Given the description of an element on the screen output the (x, y) to click on. 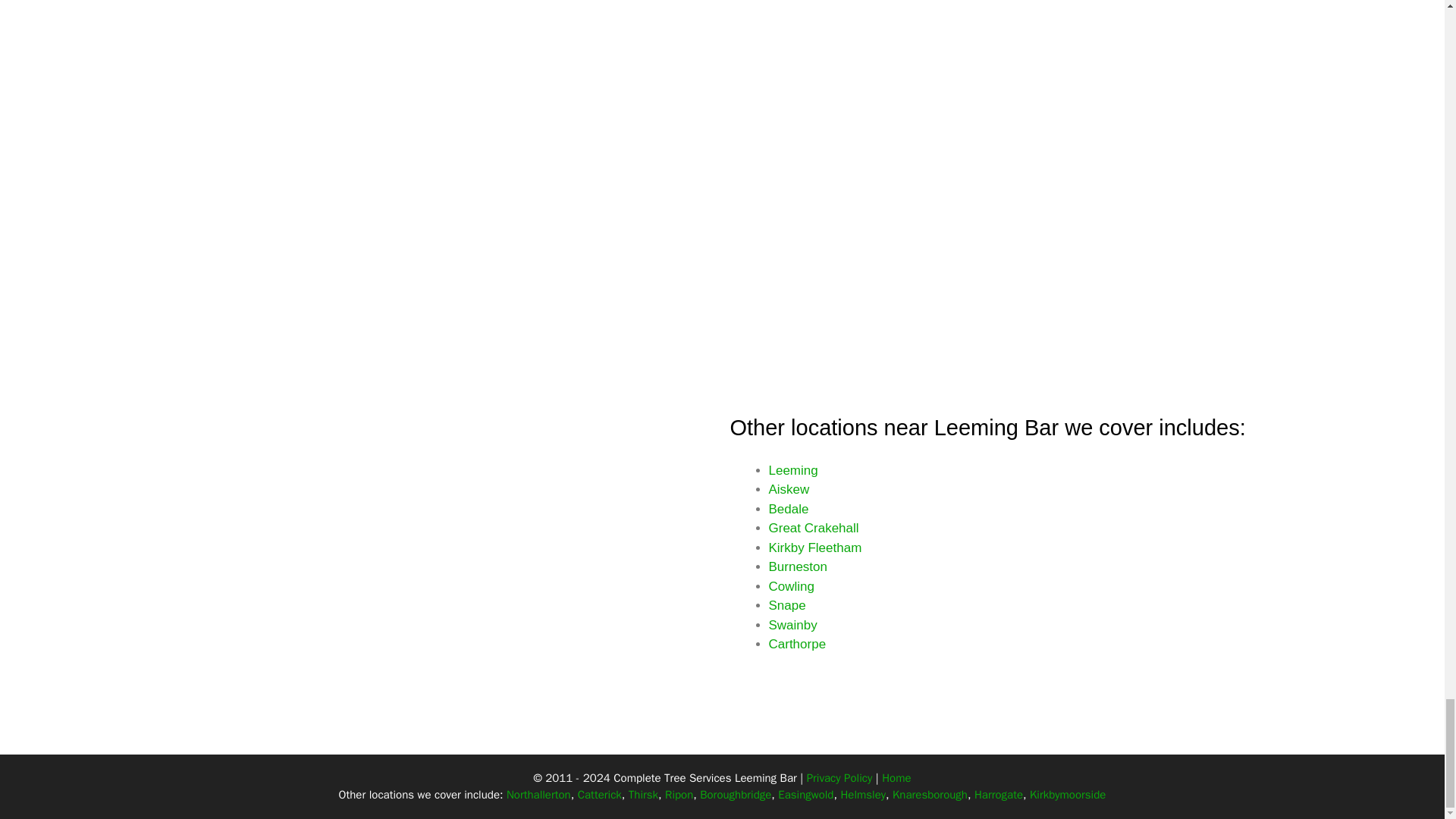
Leeming (793, 470)
